Given the description of an element on the screen output the (x, y) to click on. 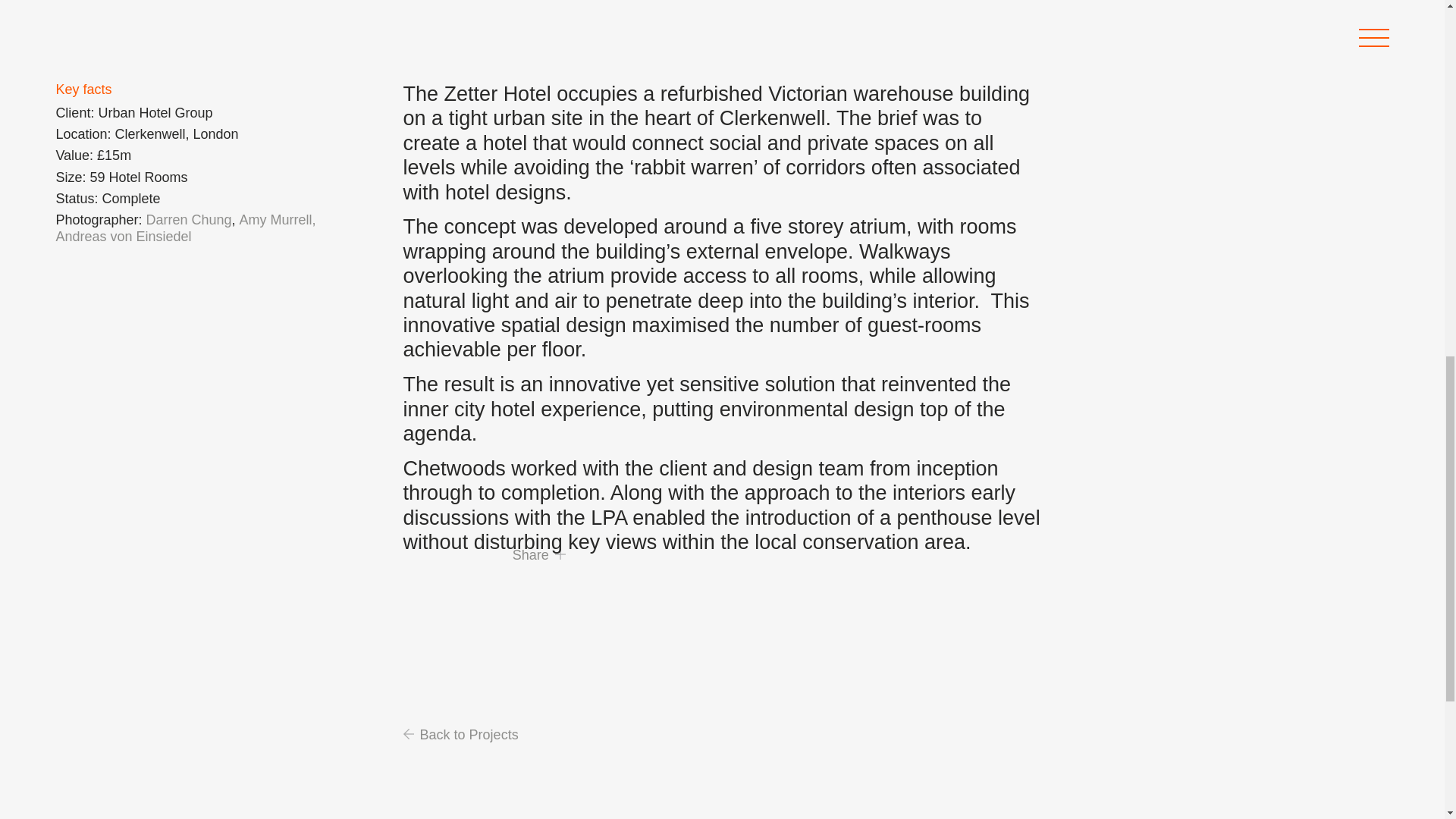
Andreas von Einsiedel (122, 237)
Amy Murrell, (277, 220)
Share (539, 555)
Darren Chung (188, 220)
Back to Projects (460, 735)
